Given the description of an element on the screen output the (x, y) to click on. 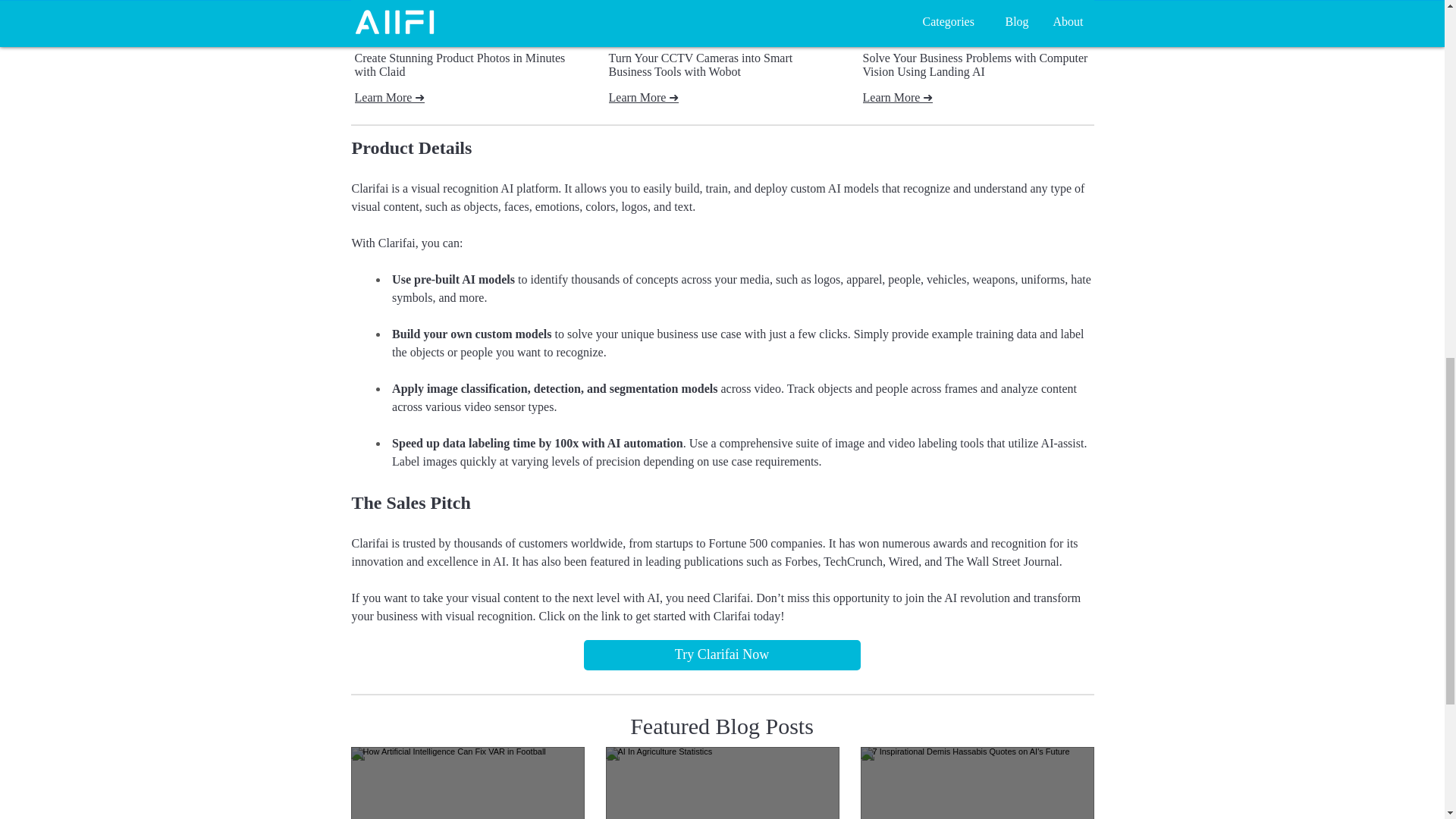
Claid (467, 33)
Landing AI (976, 33)
Try Clarifai Now (721, 654)
Wobot (721, 33)
